Given the description of an element on the screen output the (x, y) to click on. 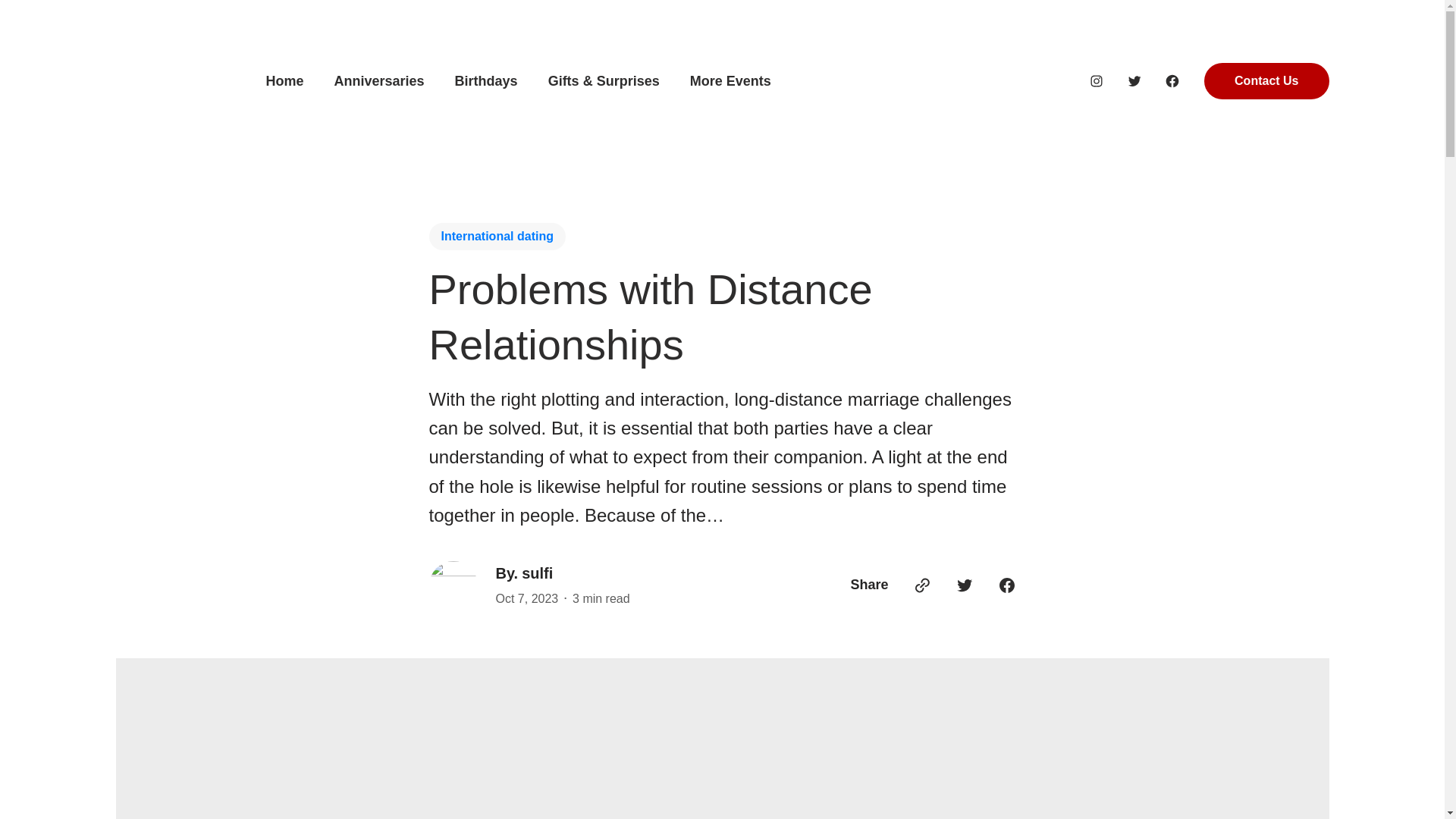
Birthdays (486, 81)
Contact Us (1265, 81)
Twitter (964, 585)
More Events (730, 81)
Instagram (1096, 80)
Anniversaries (379, 81)
Link (921, 585)
Facebook (1006, 585)
Home (283, 81)
Facebook (1171, 80)
